Given the description of an element on the screen output the (x, y) to click on. 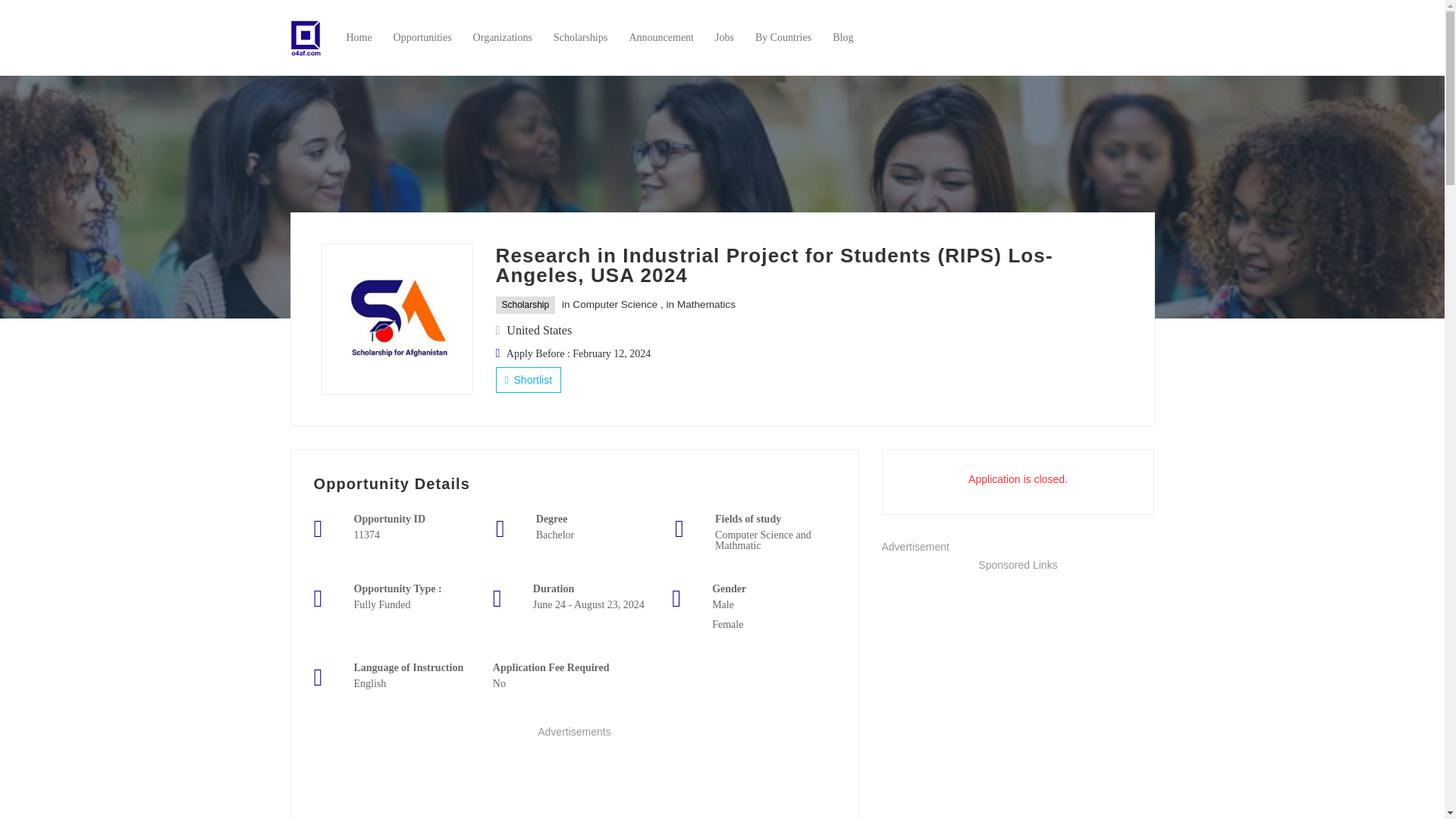
Advertisement (1017, 696)
Home (358, 37)
Advertisement (574, 780)
Opportunities (422, 37)
